Given the description of an element on the screen output the (x, y) to click on. 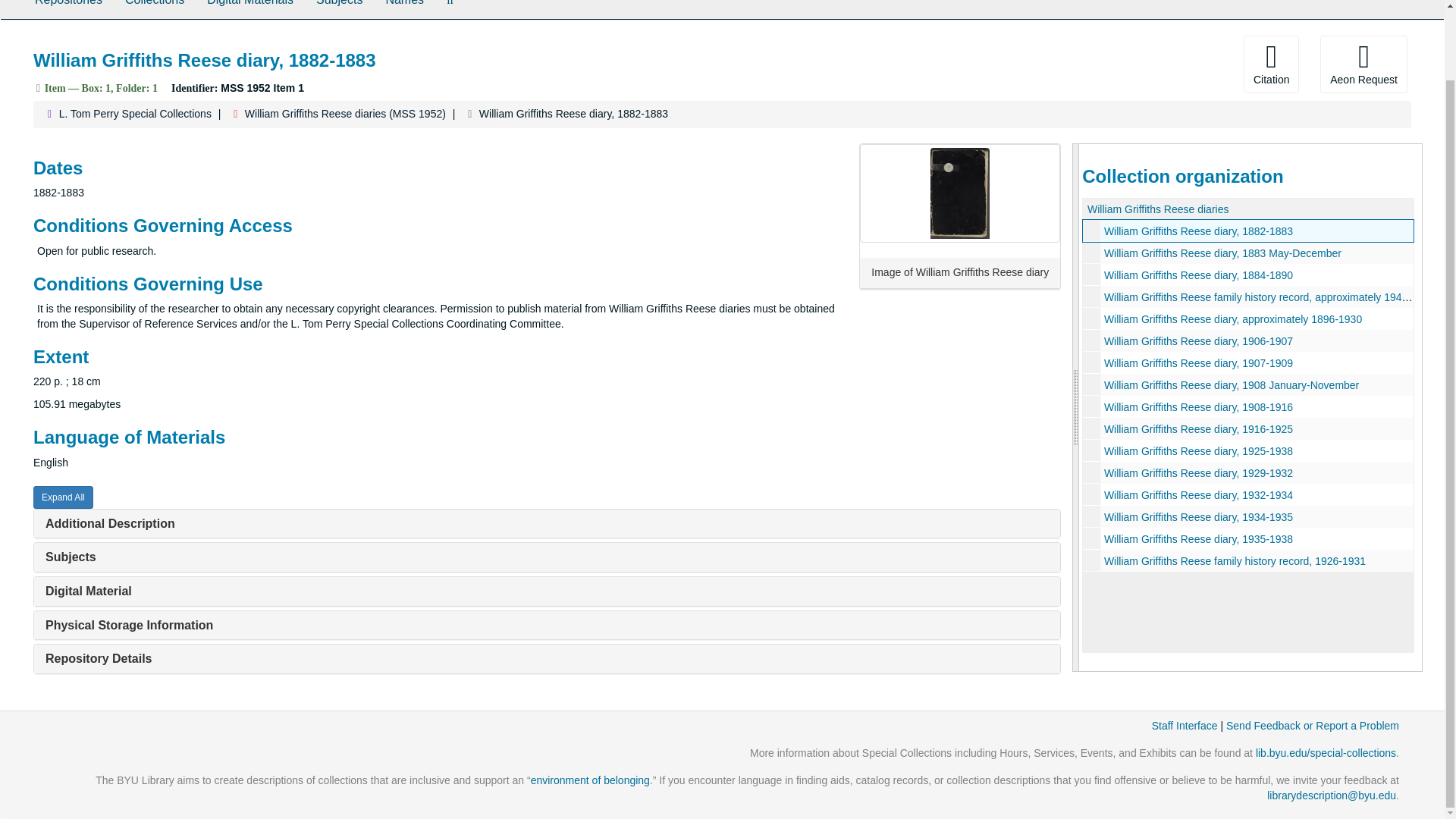
Subjects (339, 9)
Link to digital object (959, 193)
William Griffiths Reese family history record (1248, 296)
Aeon Request (1363, 64)
William Griffiths Reese diary (1248, 230)
Additional Description (109, 522)
Search The Archives (449, 9)
Citation (1270, 64)
Expand All (63, 497)
William Griffiths Reese diary, approximately 1896-1930 (1232, 318)
Aeon Request (1363, 64)
William Griffiths Reese diary (1248, 362)
L. Tom Perry Special Collections (135, 113)
William Griffiths Reese diary, 1883 May-December (1221, 253)
Subjects (70, 556)
